Given the description of an element on the screen output the (x, y) to click on. 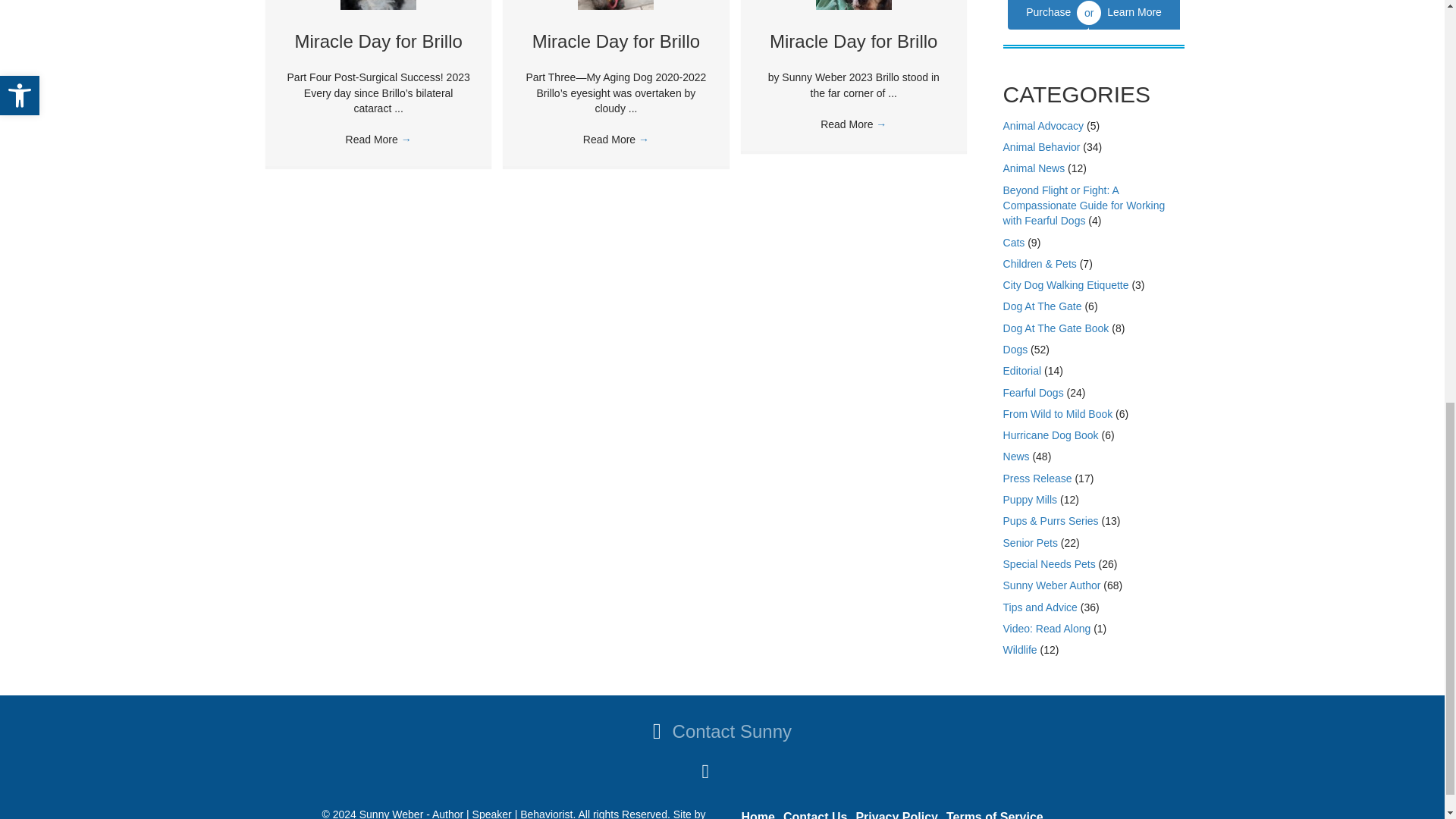
Read More (616, 139)
Read More (379, 139)
Miracle Day for Brillo (377, 41)
Miracle Day for Brillo (616, 41)
